Given the description of an element on the screen output the (x, y) to click on. 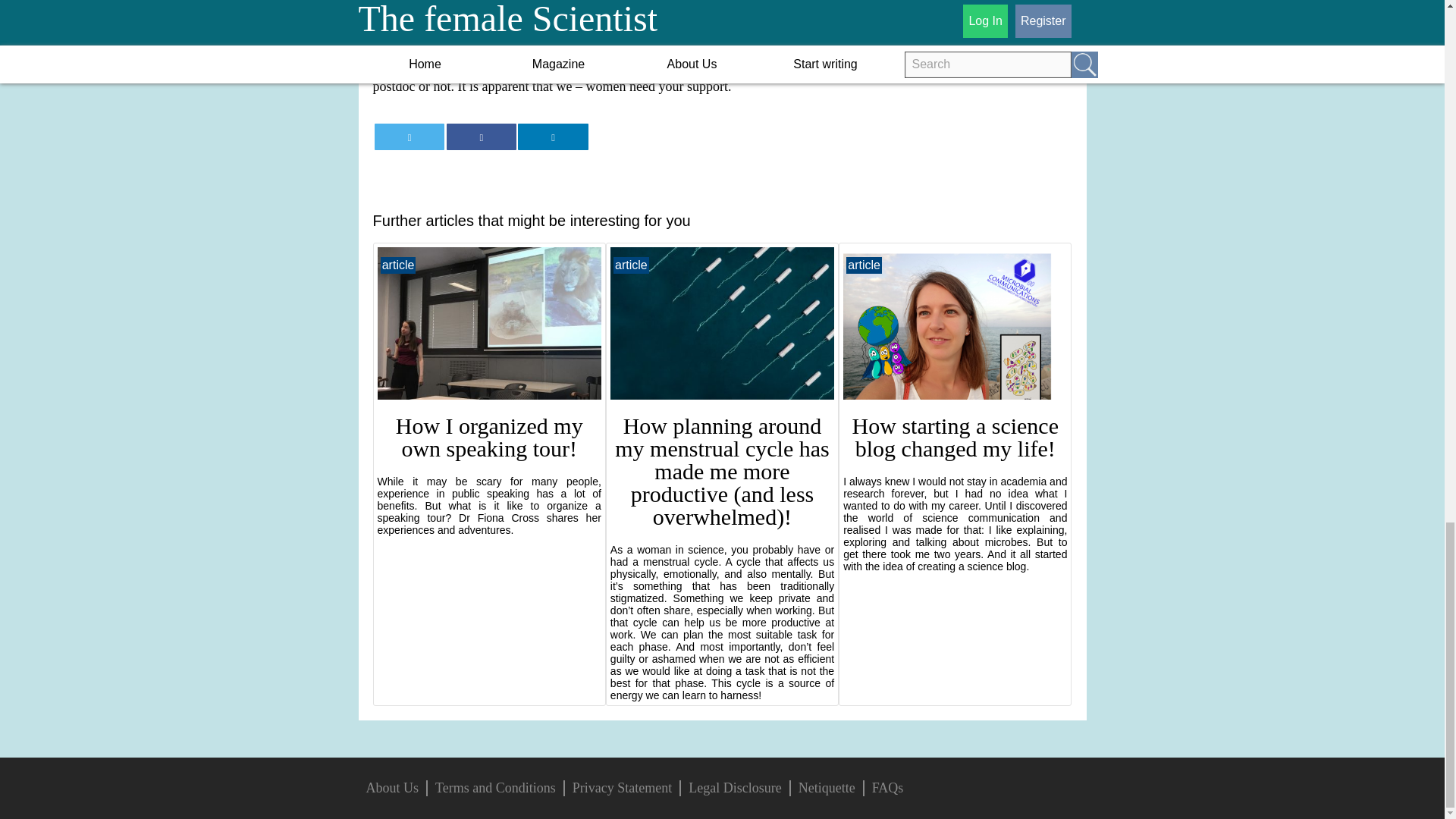
Netiquette (826, 787)
Privacy Statement (621, 787)
Legal Disclosure (734, 787)
Tweet on Twitter (409, 136)
Share on Facebook (481, 136)
article (397, 264)
article (863, 264)
Share on Linkedin (553, 136)
About Us (392, 787)
article (630, 264)
FAQs (888, 787)
Terms and Conditions (495, 787)
